Given the description of an element on the screen output the (x, y) to click on. 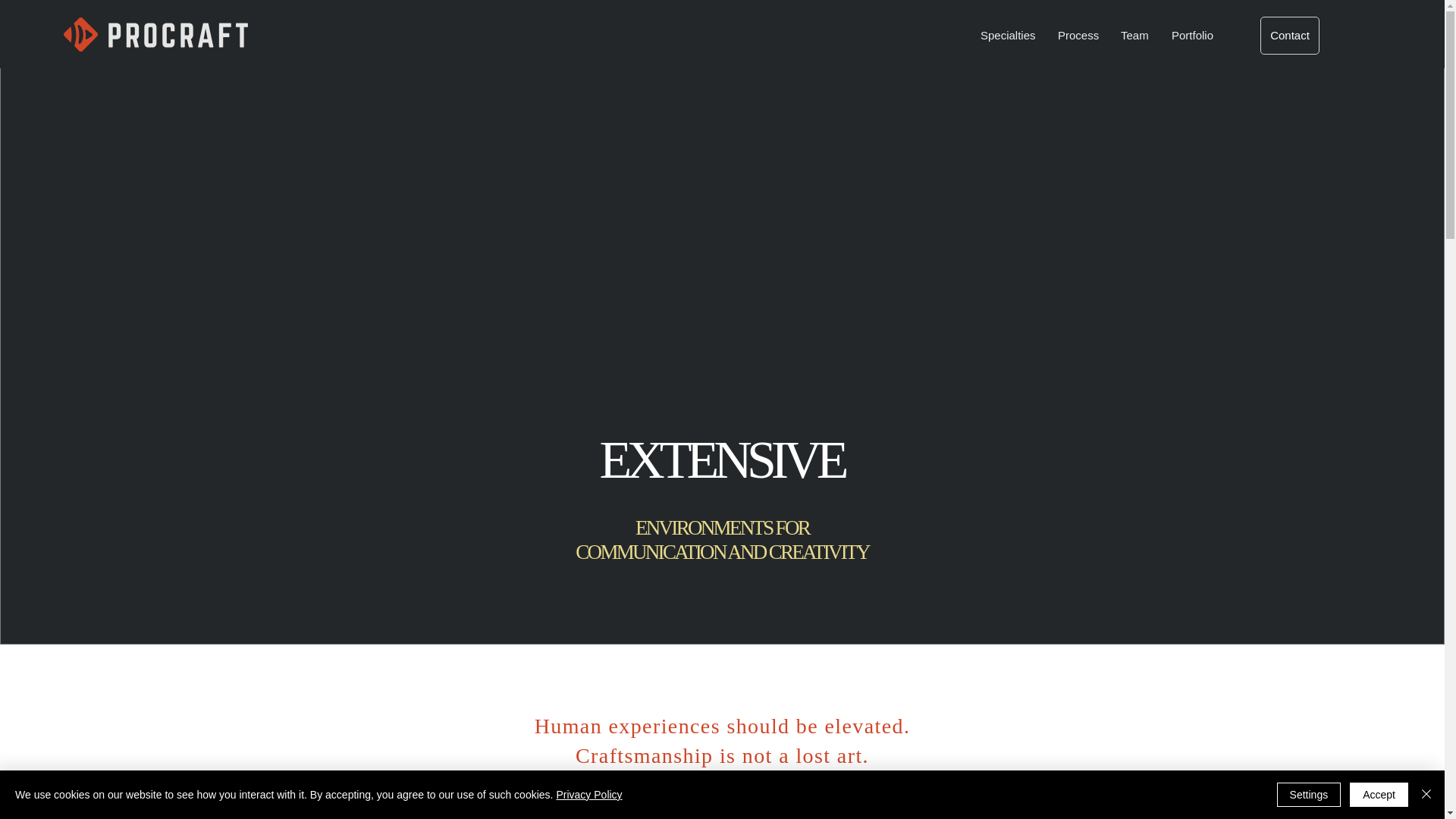
Privacy Policy (588, 794)
Contact (1289, 35)
Team (1134, 35)
Process (1077, 35)
Portfolio (1194, 35)
